Given the description of an element on the screen output the (x, y) to click on. 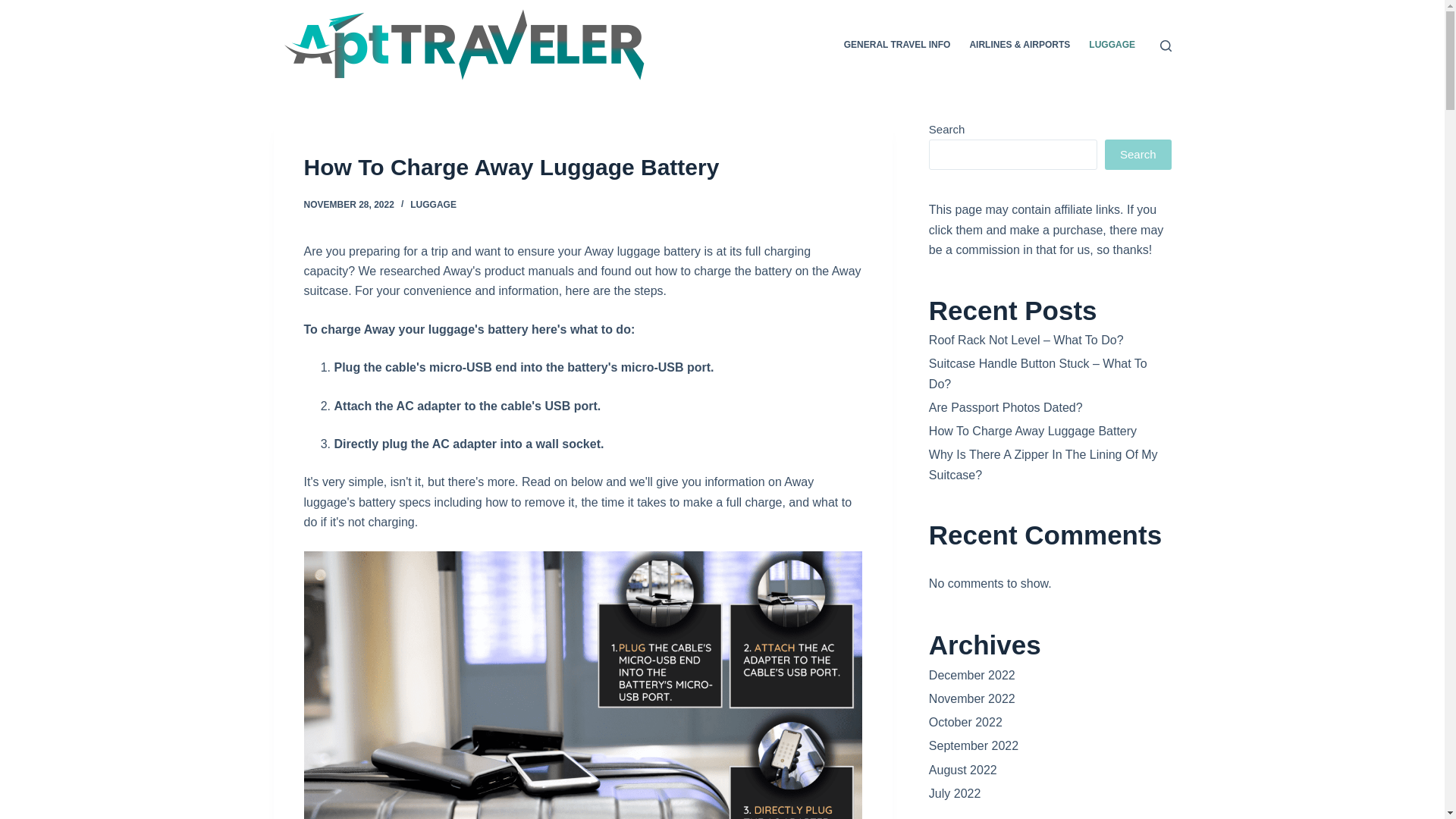
September 2022 (972, 745)
October 2022 (965, 721)
GENERAL TRAVEL INFO (896, 45)
December 2022 (971, 675)
November 2022 (971, 698)
Skip to content (15, 7)
Why Is There A Zipper In The Lining Of My Suitcase? (1042, 463)
Are Passport Photos Dated? (1005, 407)
Search (1138, 154)
How To Charge Away Luggage Battery (581, 166)
